Given the description of an element on the screen output the (x, y) to click on. 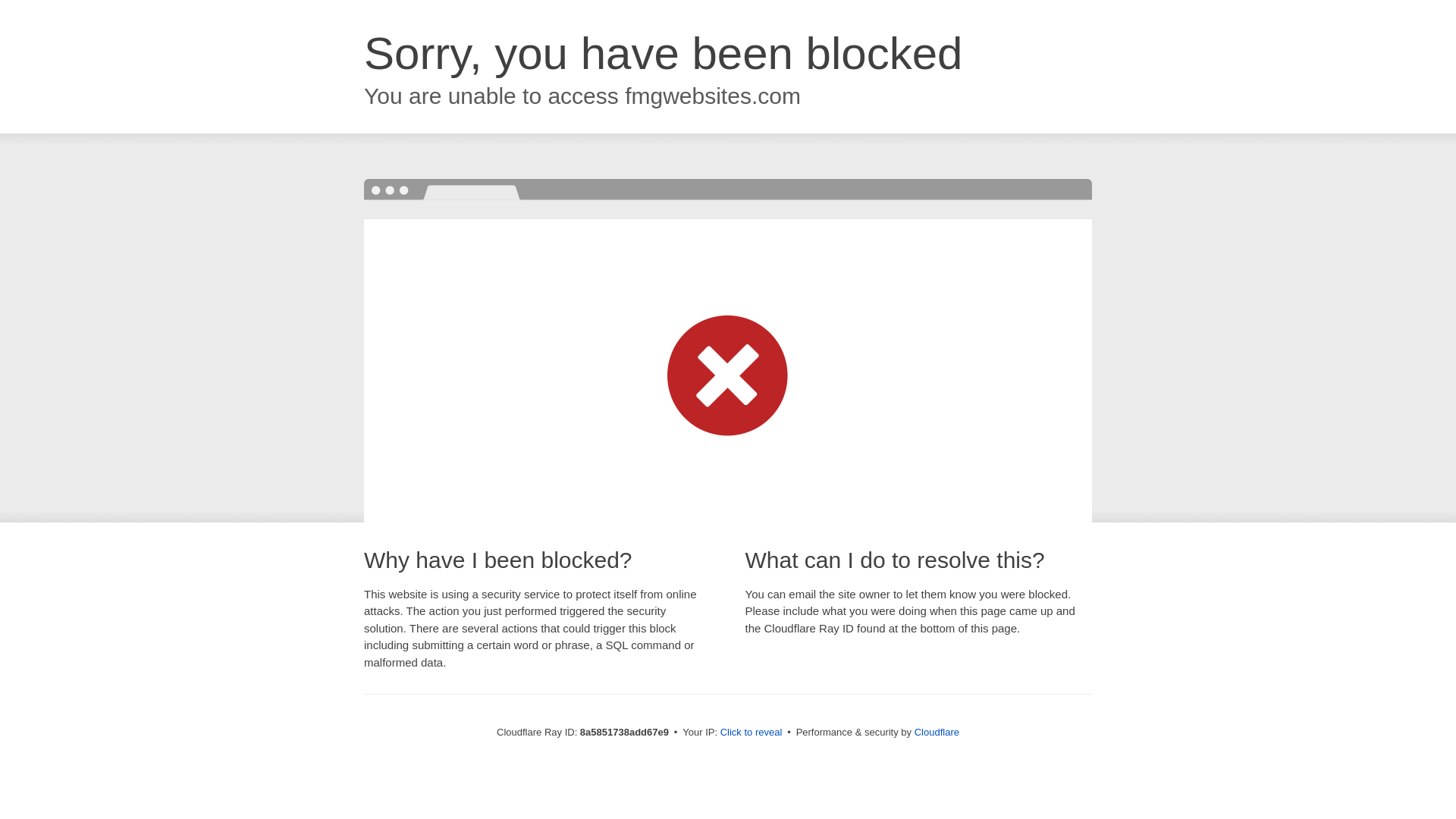
Cloudflare (936, 731)
Click to reveal (751, 732)
